Given the description of an element on the screen output the (x, y) to click on. 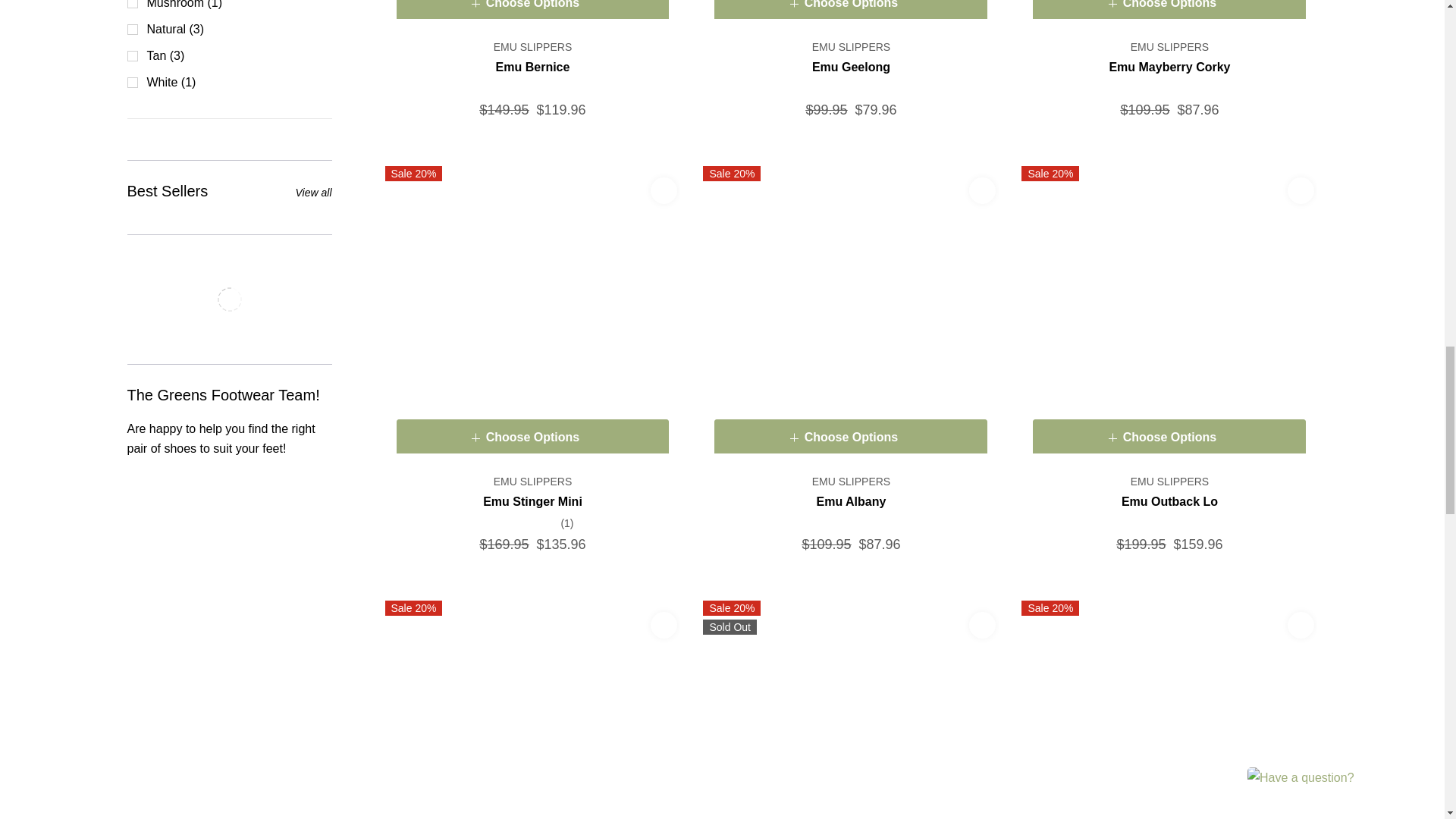
sidecut2.png (228, 299)
Natural (850, 13)
Black (1169, 313)
Chestnut (533, 13)
Charcoal (533, 313)
Tawny (1169, 13)
Chestnut (850, 313)
